Given the description of an element on the screen output the (x, y) to click on. 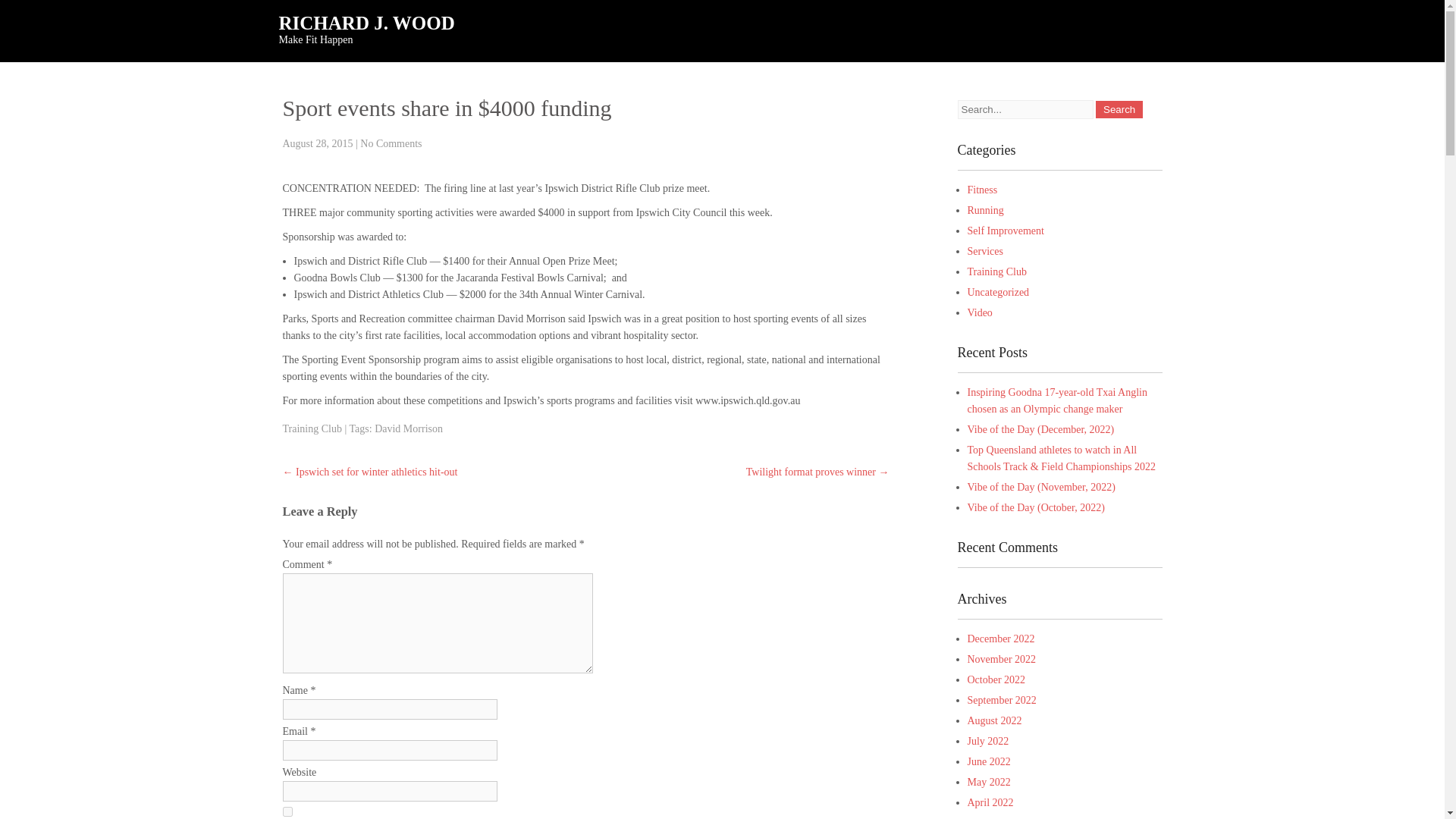
Training Club (997, 271)
December 2022 (1001, 638)
Video (980, 312)
June 2022 (989, 761)
Search (1119, 108)
Fitness (982, 189)
Training Club (311, 428)
July 2022 (988, 740)
October 2022 (997, 679)
September 2022 (1002, 699)
